Given the description of an element on the screen output the (x, y) to click on. 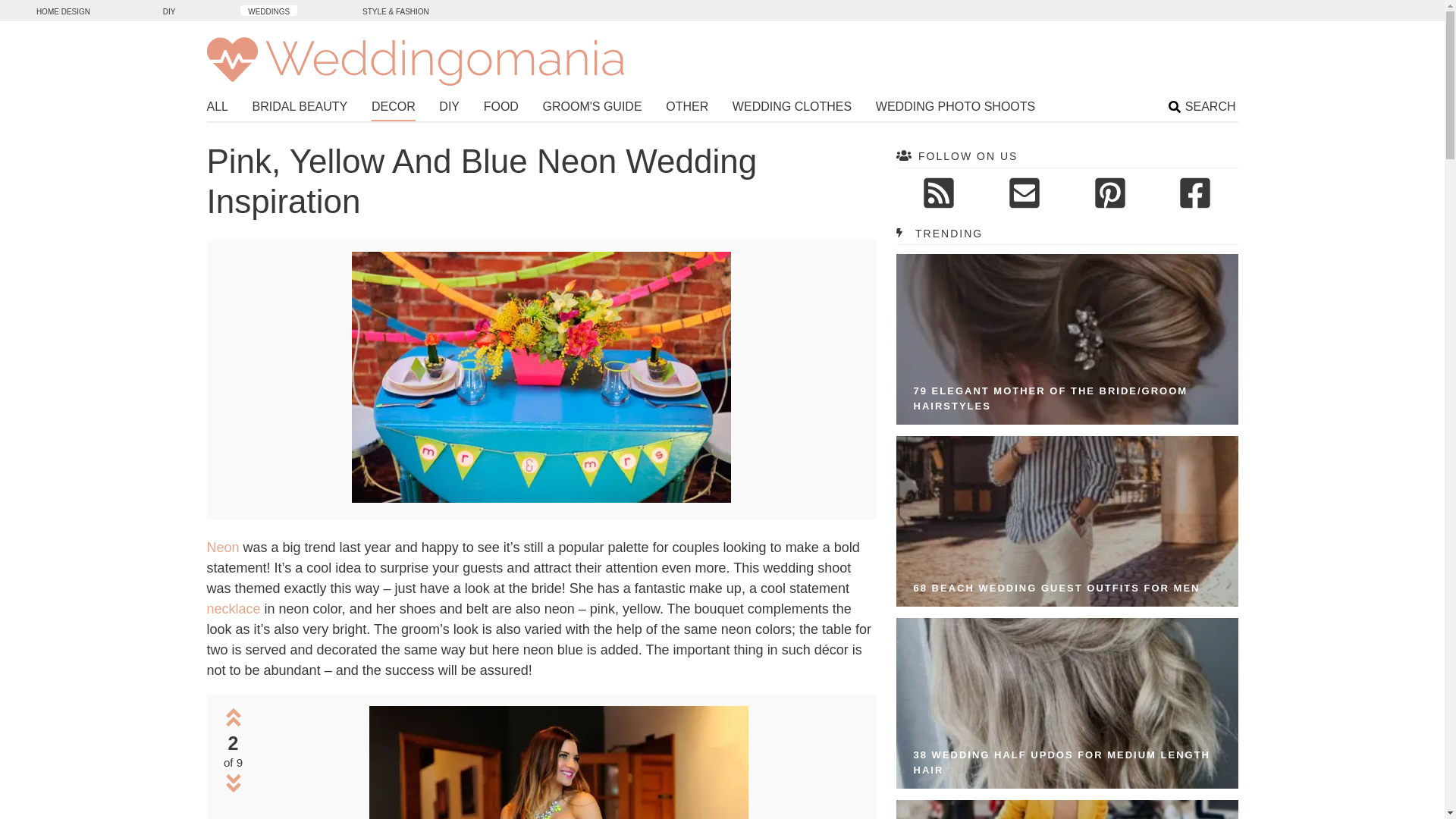
Pink Yellow Blue Neon Wedding Inspiration (558, 762)
FOOD (500, 108)
WEDDING PHOTO SHOOTS (955, 108)
DIY (169, 9)
DIY (449, 108)
HOME DESIGN (63, 9)
OTHER (686, 108)
SEARCH (1202, 108)
DigsDigs (63, 9)
BRIDAL BEAUTY (299, 108)
